Given the description of an element on the screen output the (x, y) to click on. 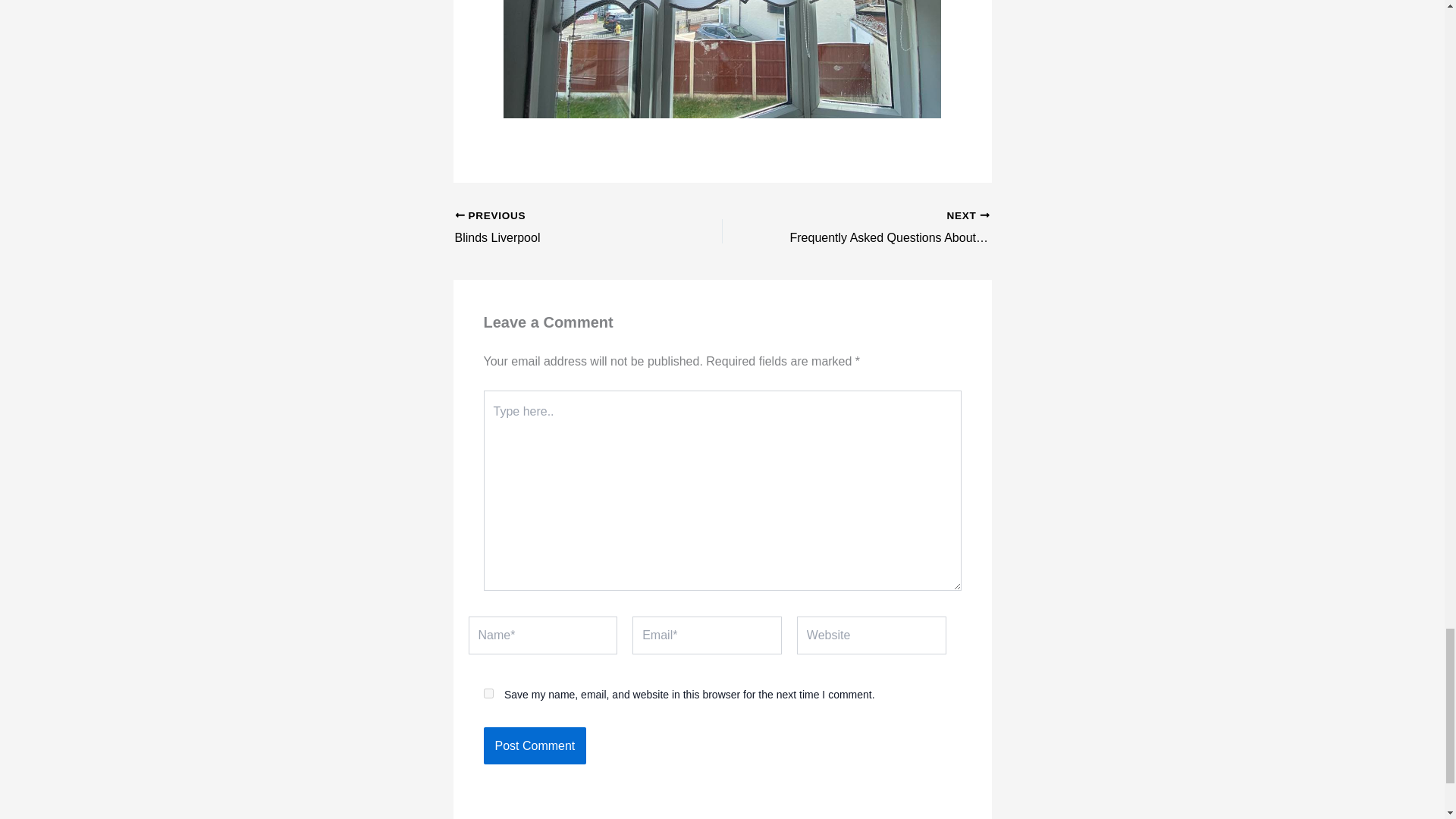
Blinds Liverpool (561, 228)
Post Comment (534, 745)
yes (488, 693)
Frequently Asked Questions About Blinds (882, 228)
